Given the description of an element on the screen output the (x, y) to click on. 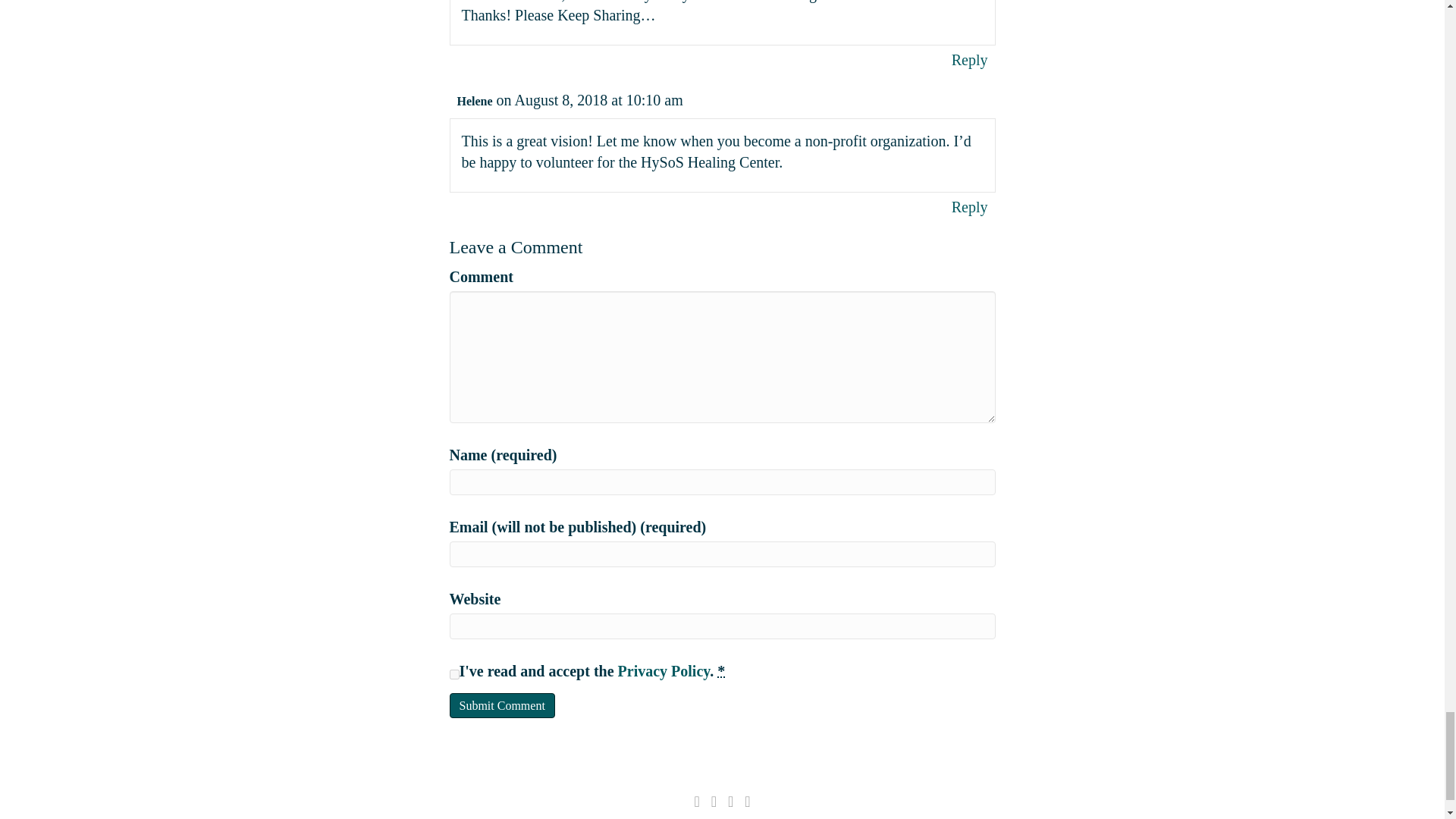
Submit Comment (501, 705)
You need to accept this checkbox (721, 670)
1 (453, 674)
